Given the description of an element on the screen output the (x, y) to click on. 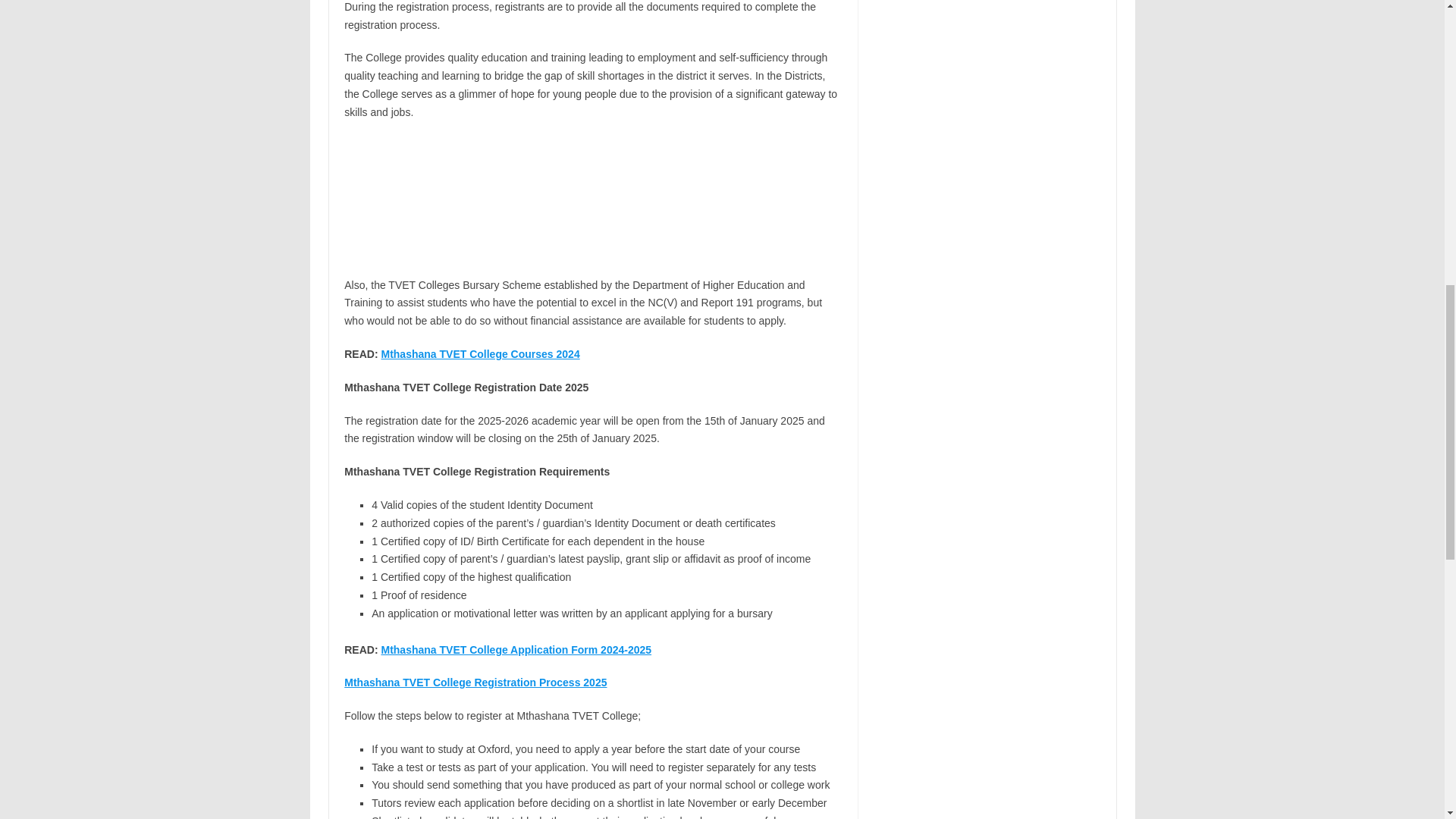
Mthashana TVET College Courses 2024 (479, 354)
Advertisement (987, 49)
Mthashana TVET College Application Form 2024-2025 (515, 648)
Mthashana TVET College Registration Process 2025 (475, 682)
Advertisement (592, 199)
